Given the description of an element on the screen output the (x, y) to click on. 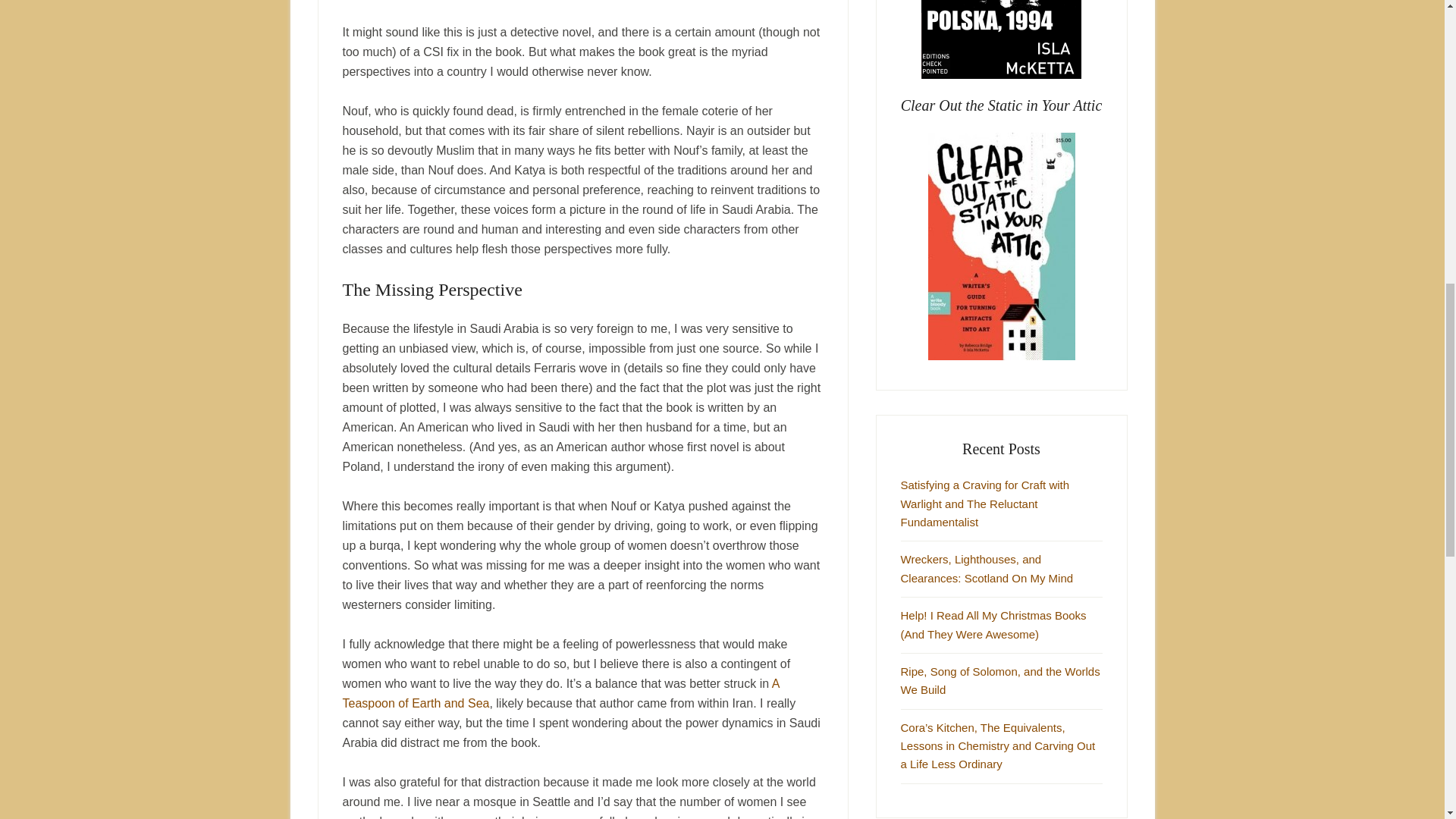
A Teaspoon of Earth and Sea (560, 693)
